Given the description of an element on the screen output the (x, y) to click on. 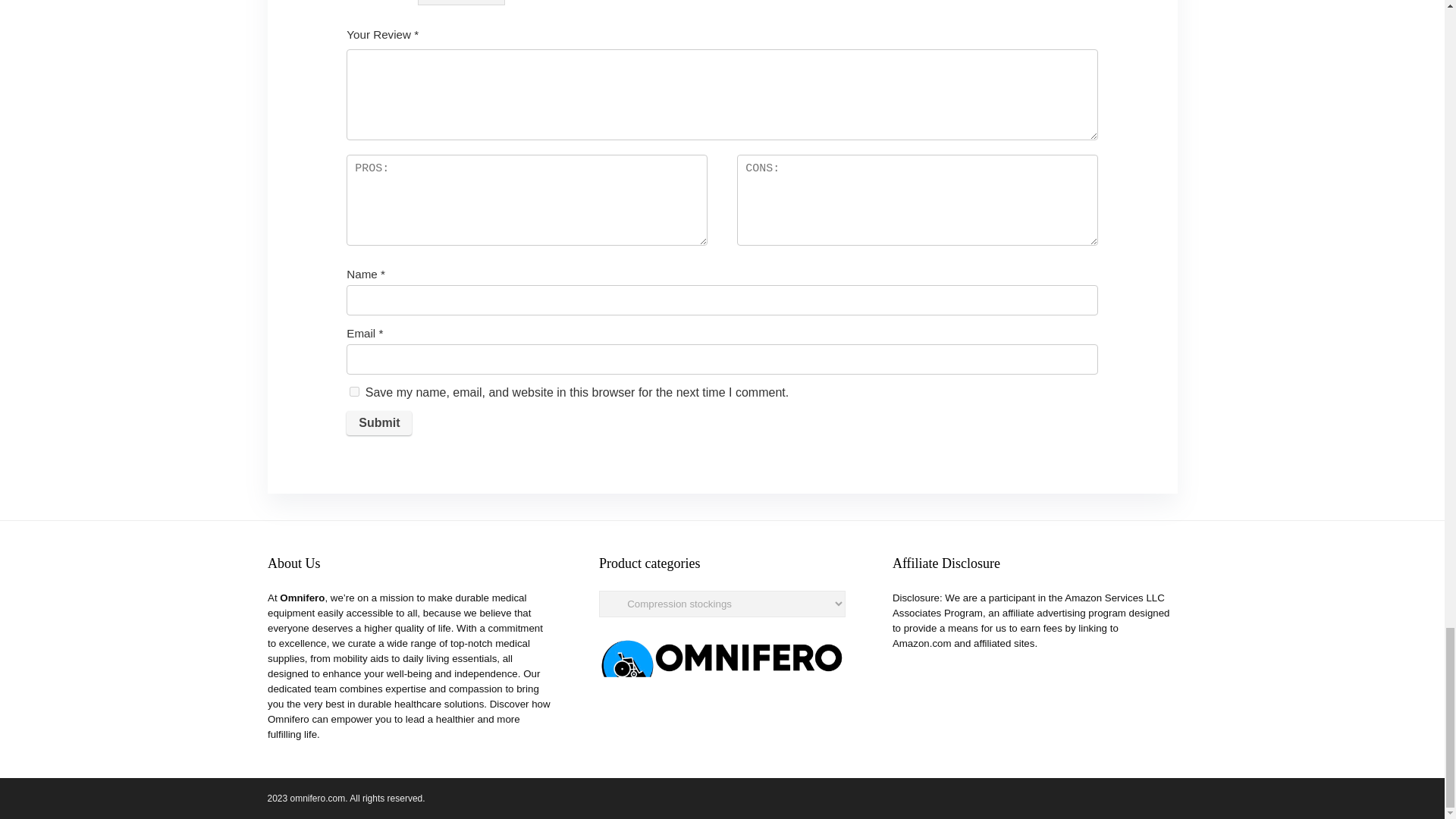
Submit (379, 422)
yes (354, 391)
